Given the description of an element on the screen output the (x, y) to click on. 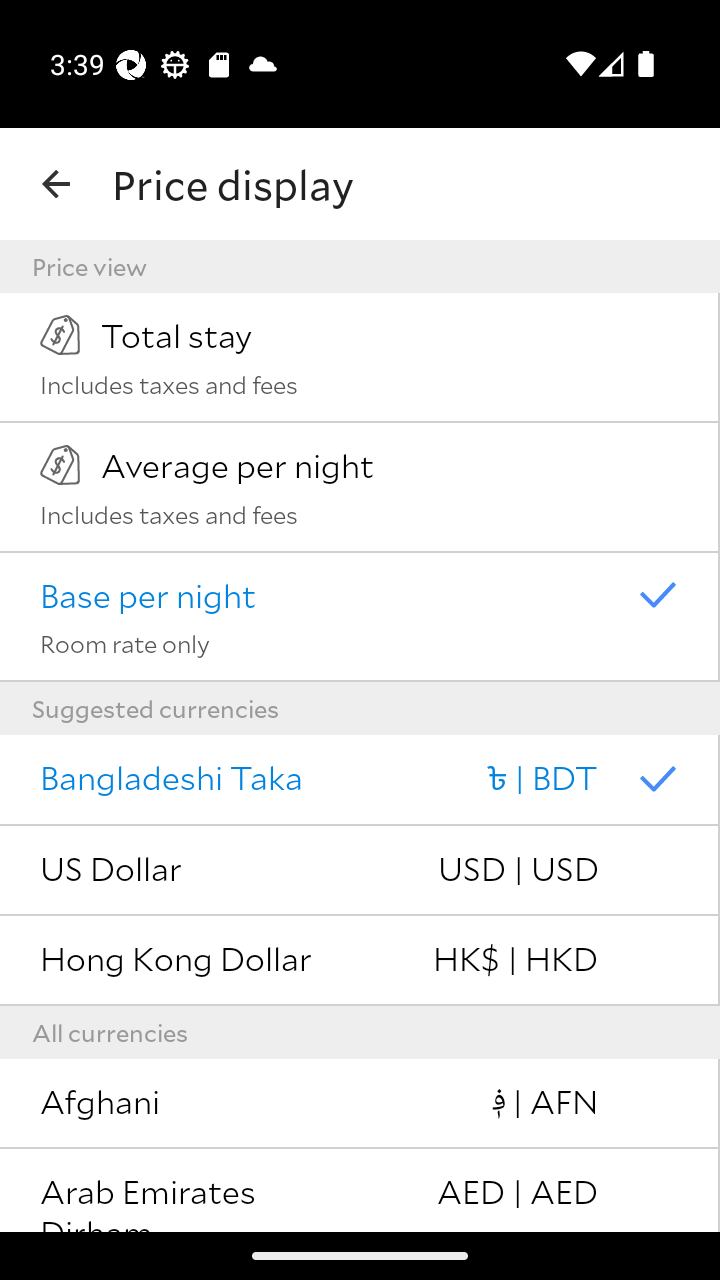
navigation_button (56, 184)
Average per night Includes taxes and fees (360, 487)
Base per night Room rate only (360, 617)
Bangladeshi Taka ৳ | BDT (360, 779)
US Dollar USD | USD (360, 870)
Hong Kong Dollar HK$ | HKD (360, 961)
Afghani ‎؋ | AFN (360, 1103)
Arab Emirates Dirham AED | AED (360, 1190)
